Given the description of an element on the screen output the (x, y) to click on. 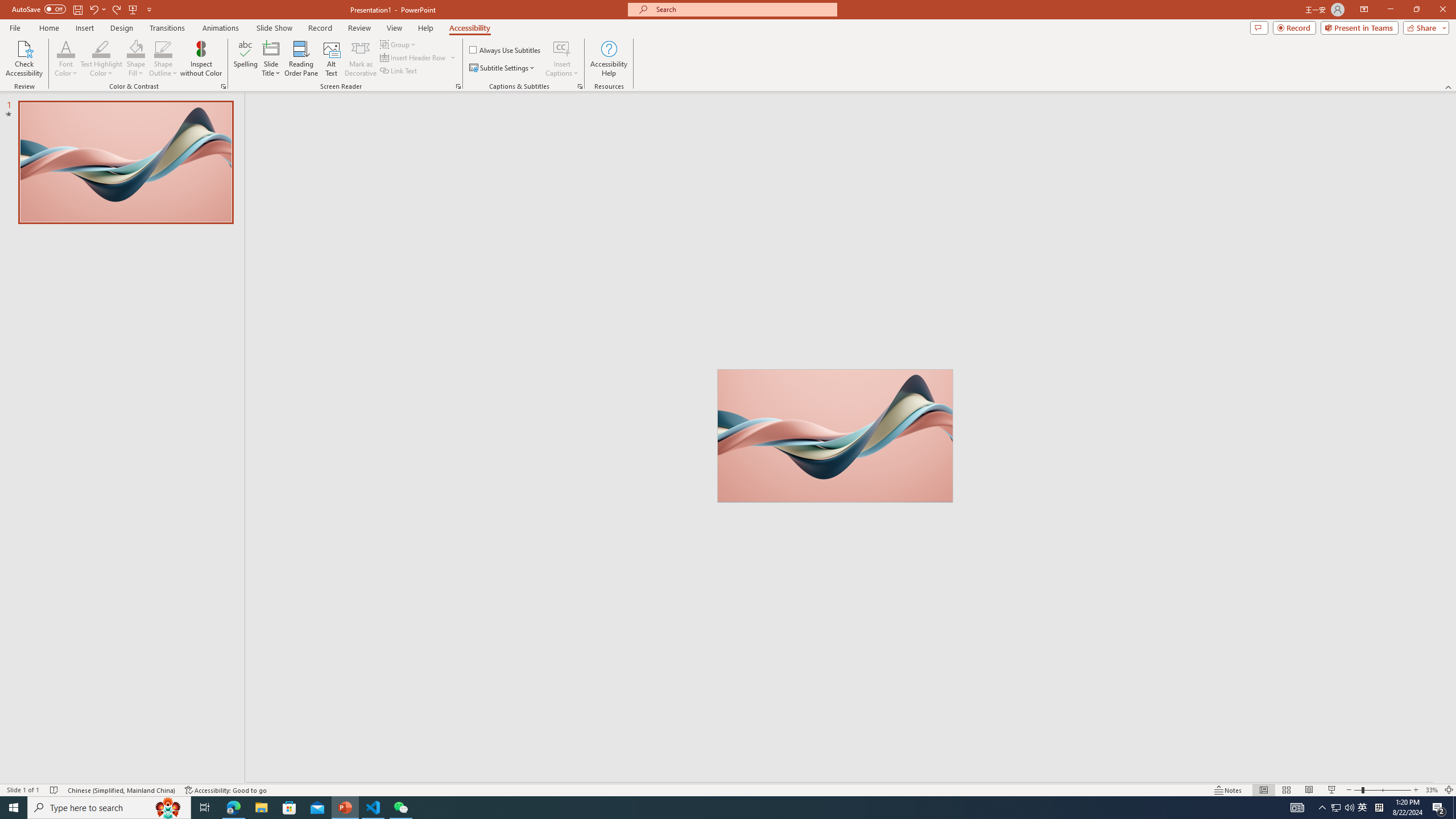
Insert Header Row (413, 56)
Inspect without Color (201, 58)
Reading Order Pane (301, 58)
Wavy 3D art (834, 435)
